Given the description of an element on the screen output the (x, y) to click on. 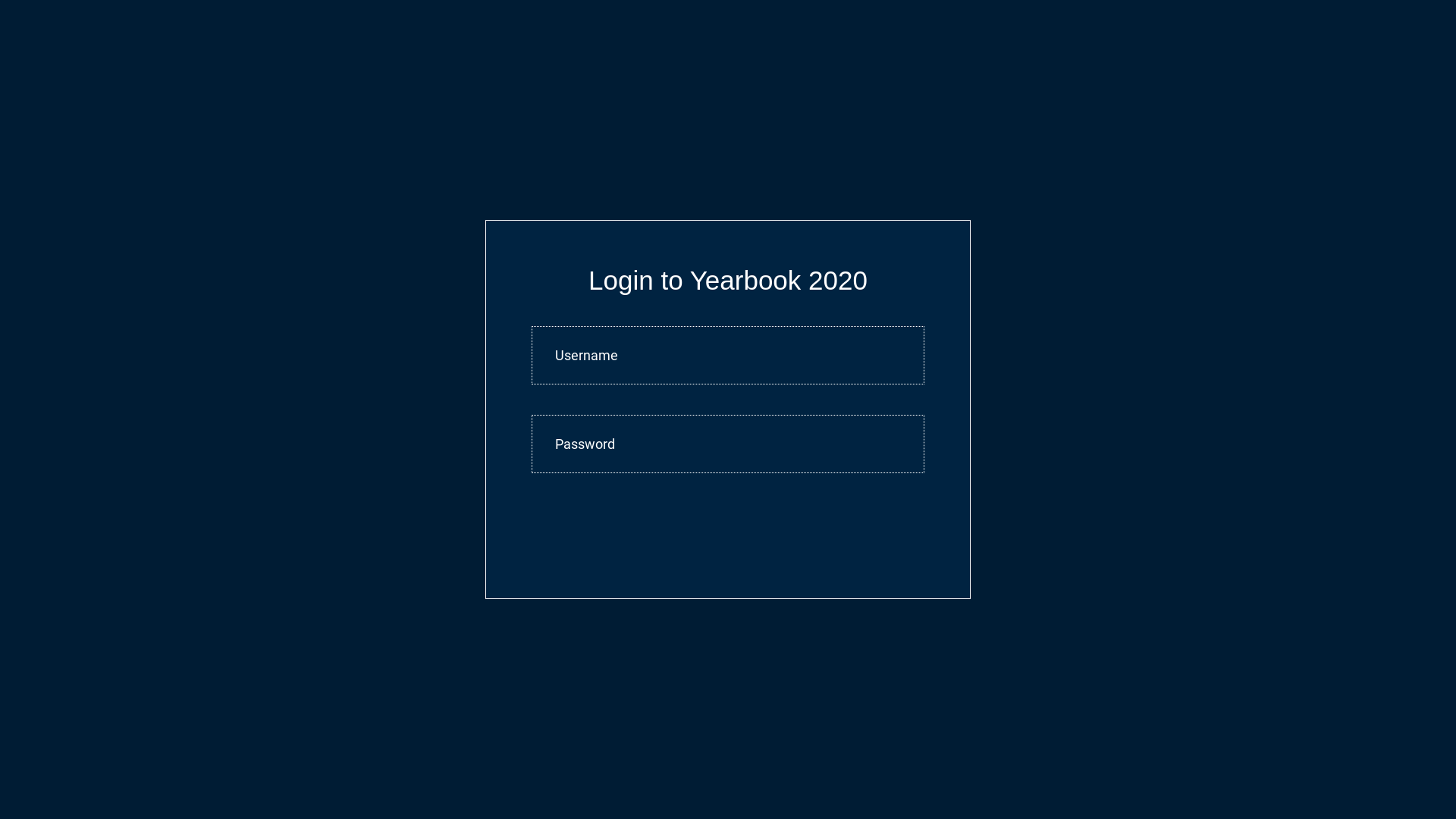
Login Element type: text (727, 532)
